Given the description of an element on the screen output the (x, y) to click on. 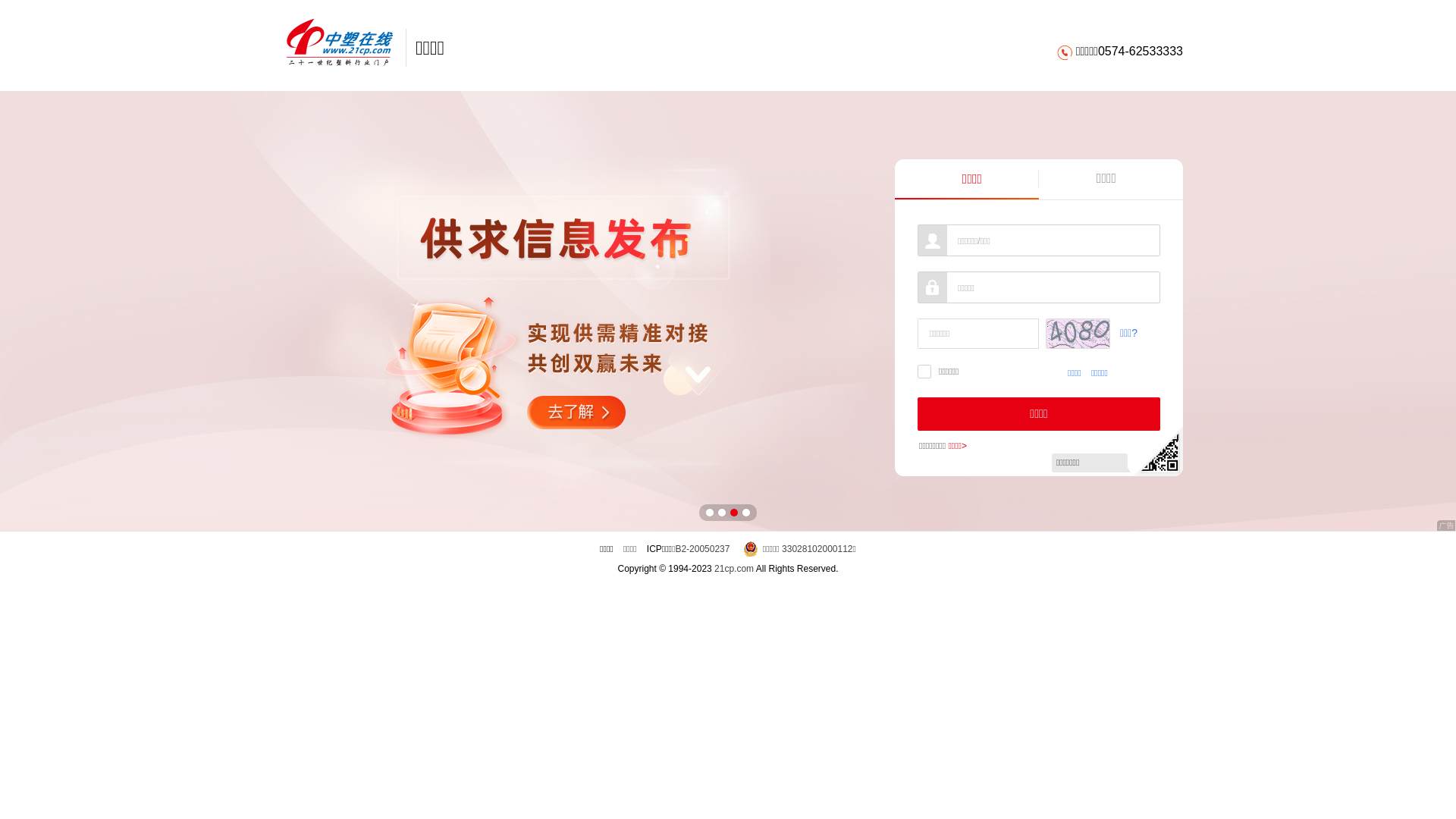
21cp.com Element type: text (733, 568)
